Given the description of an element on the screen output the (x, y) to click on. 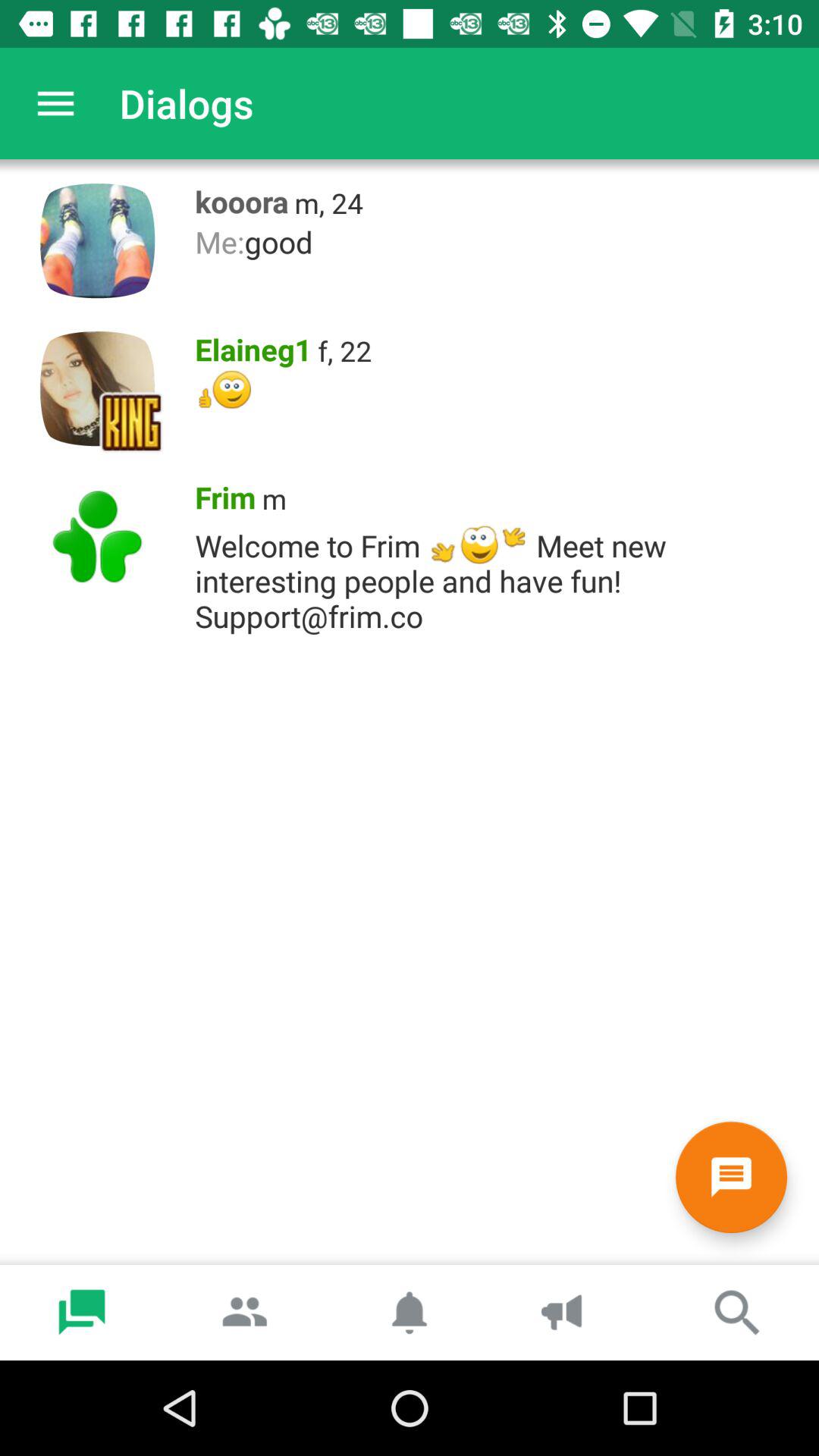
select the *t* (499, 389)
